Given the description of an element on the screen output the (x, y) to click on. 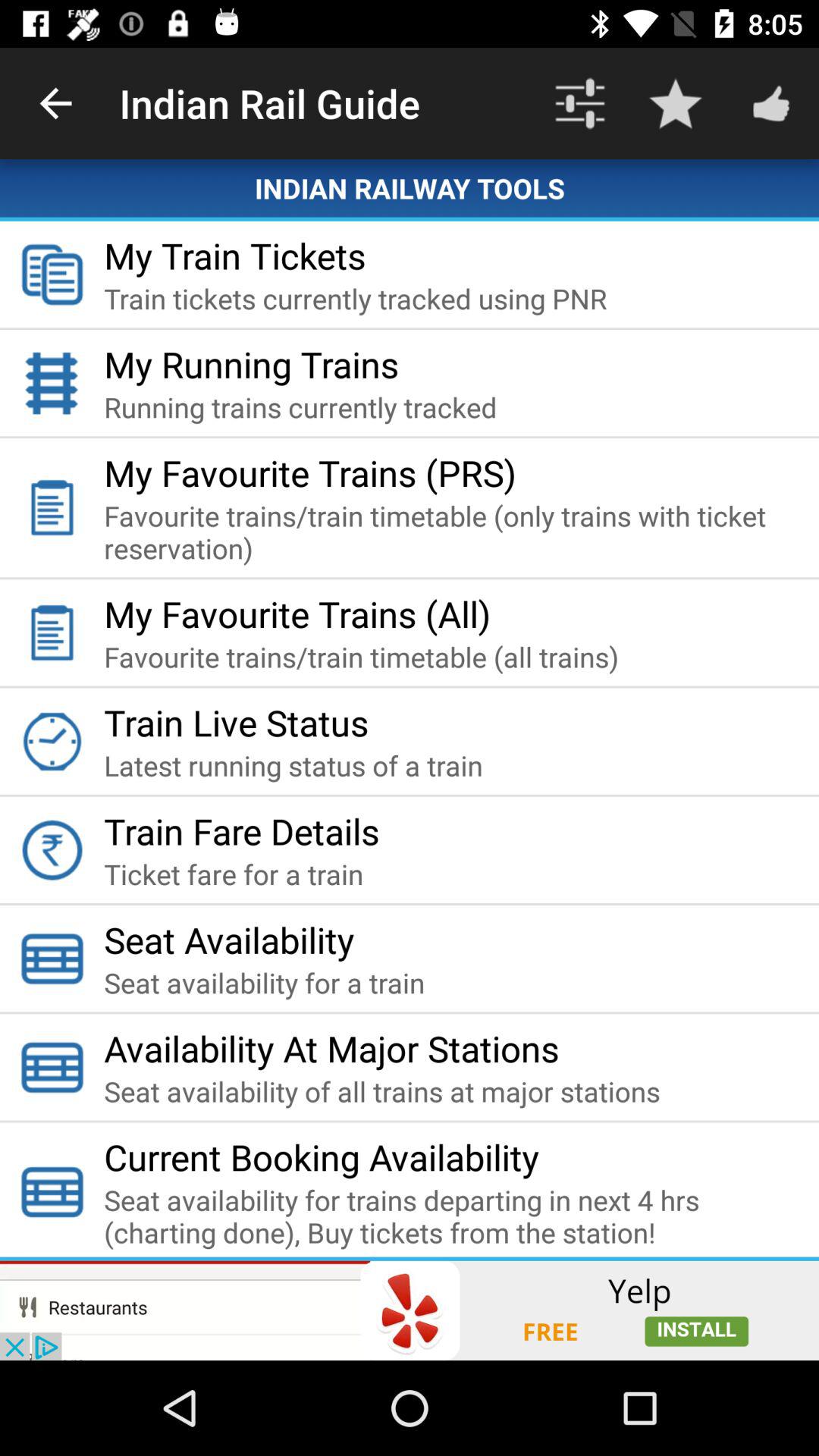
advertisement page (409, 1310)
